Given the description of an element on the screen output the (x, y) to click on. 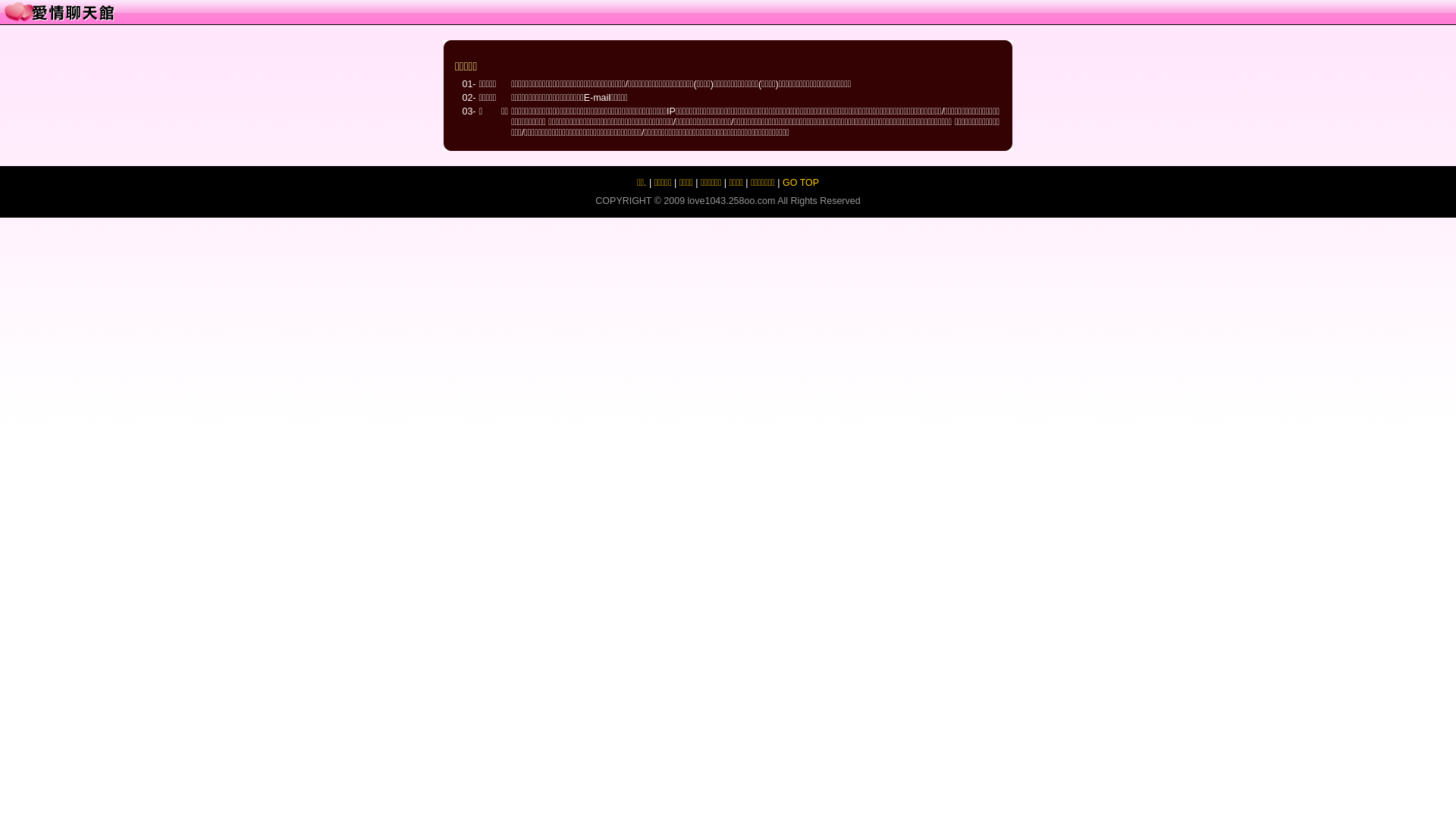
love1043.258oo.com Element type: text (731, 200)
GO TOP Element type: text (800, 182)
